Given the description of an element on the screen output the (x, y) to click on. 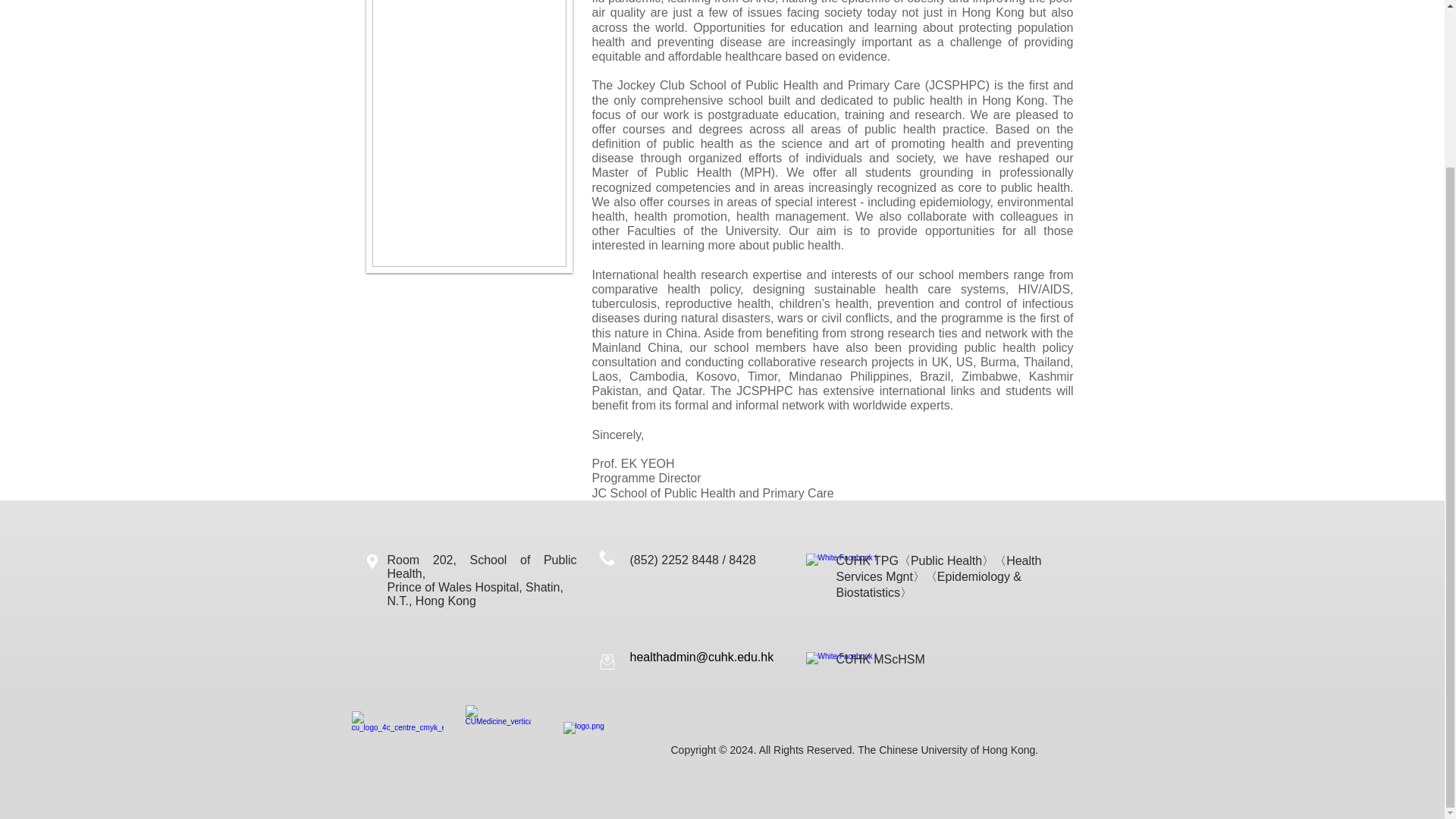
CUHK MScHSM (879, 658)
